Given the description of an element on the screen output the (x, y) to click on. 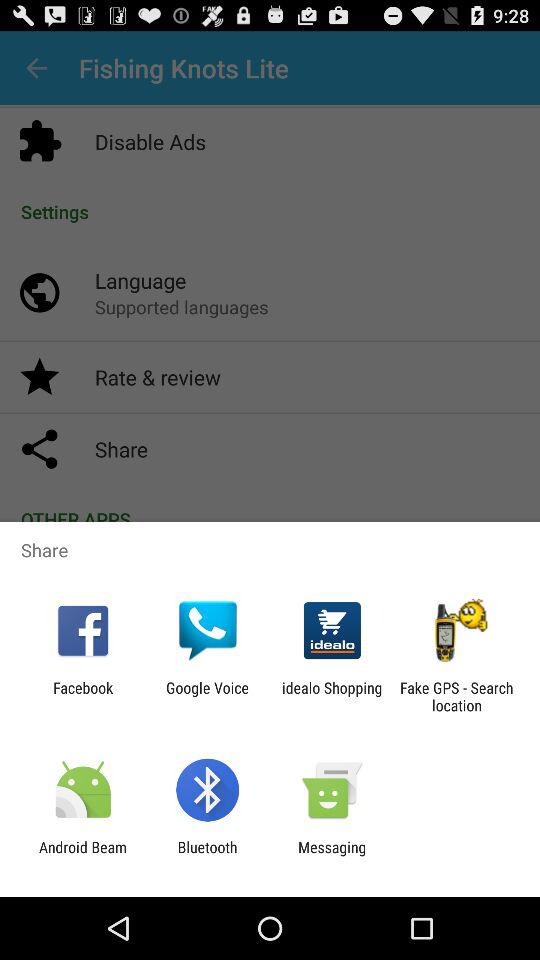
turn off icon next to the facebook icon (207, 696)
